Given the description of an element on the screen output the (x, y) to click on. 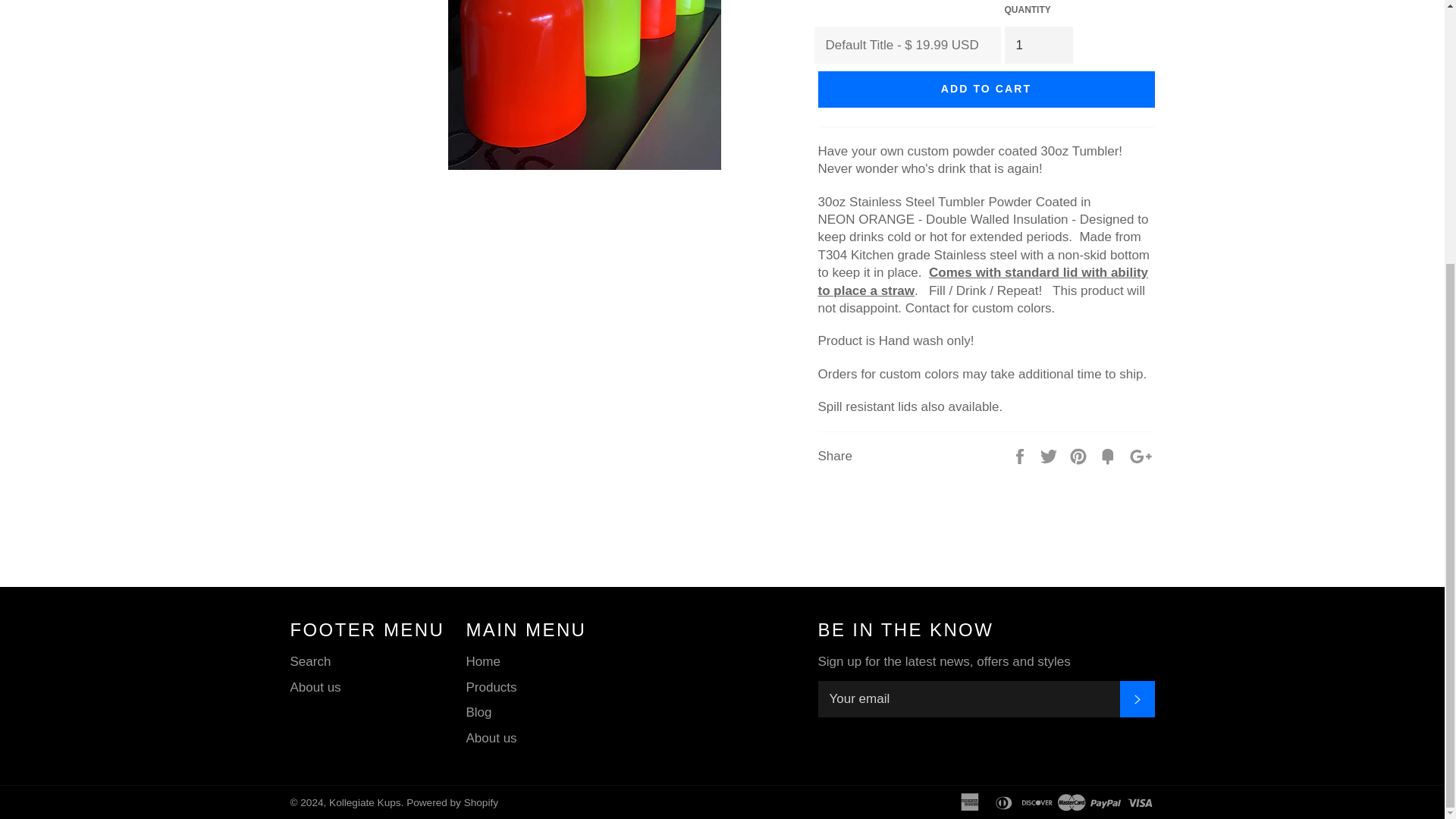
Share (1021, 455)
Fancy (1110, 455)
Search (309, 661)
SUBSCRIBE (1136, 698)
Blog (478, 712)
ADD TO CART (985, 89)
1 (1037, 44)
Products (490, 687)
Home (482, 661)
About us (490, 738)
About us (314, 687)
Kollegiate Kups (364, 802)
Pin it (1079, 455)
Tweet (1050, 455)
Powered by Shopify (451, 802)
